Given the description of an element on the screen output the (x, y) to click on. 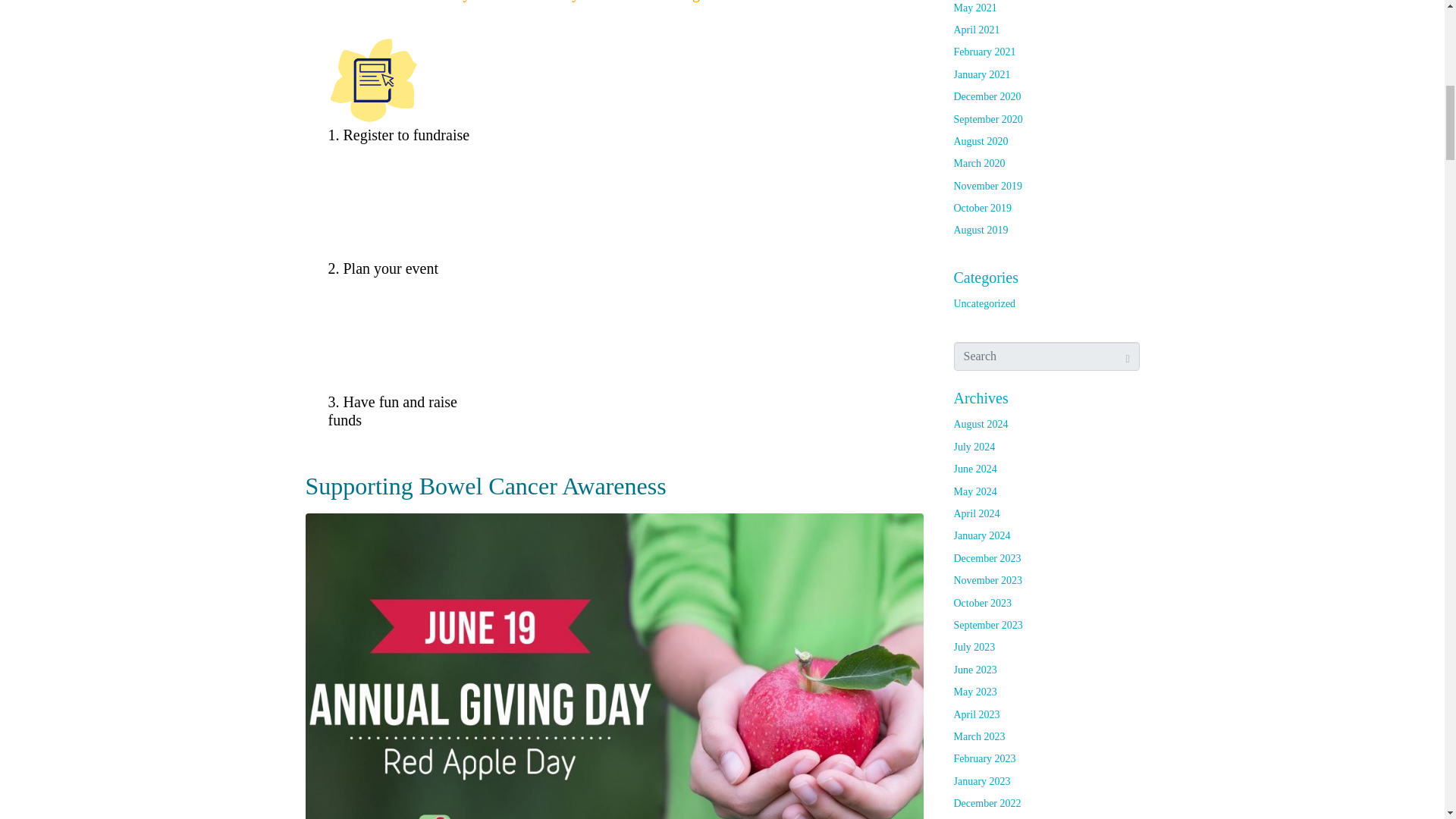
Supporting Bowel Cancer Awareness (613, 710)
Supporting Bowel Cancer Awareness (484, 485)
Supporting Bowel Cancer Awareness (484, 485)
